Given the description of an element on the screen output the (x, y) to click on. 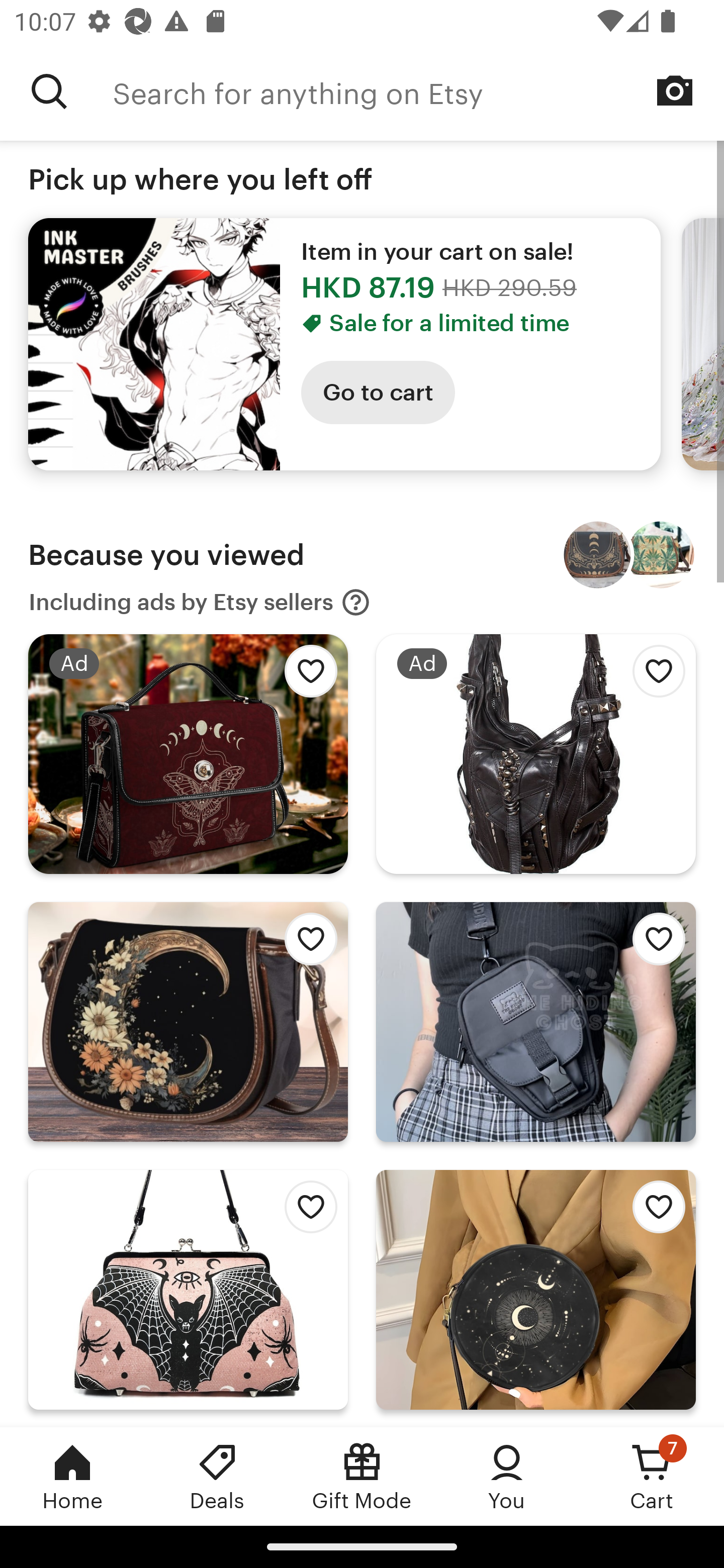
Search for anything on Etsy (49, 91)
Search by image (674, 90)
Search for anything on Etsy (418, 91)
Including ads by Etsy sellers (199, 601)
Deals (216, 1475)
Gift Mode (361, 1475)
You (506, 1475)
Cart, 7 new notifications Cart (651, 1475)
